Given the description of an element on the screen output the (x, y) to click on. 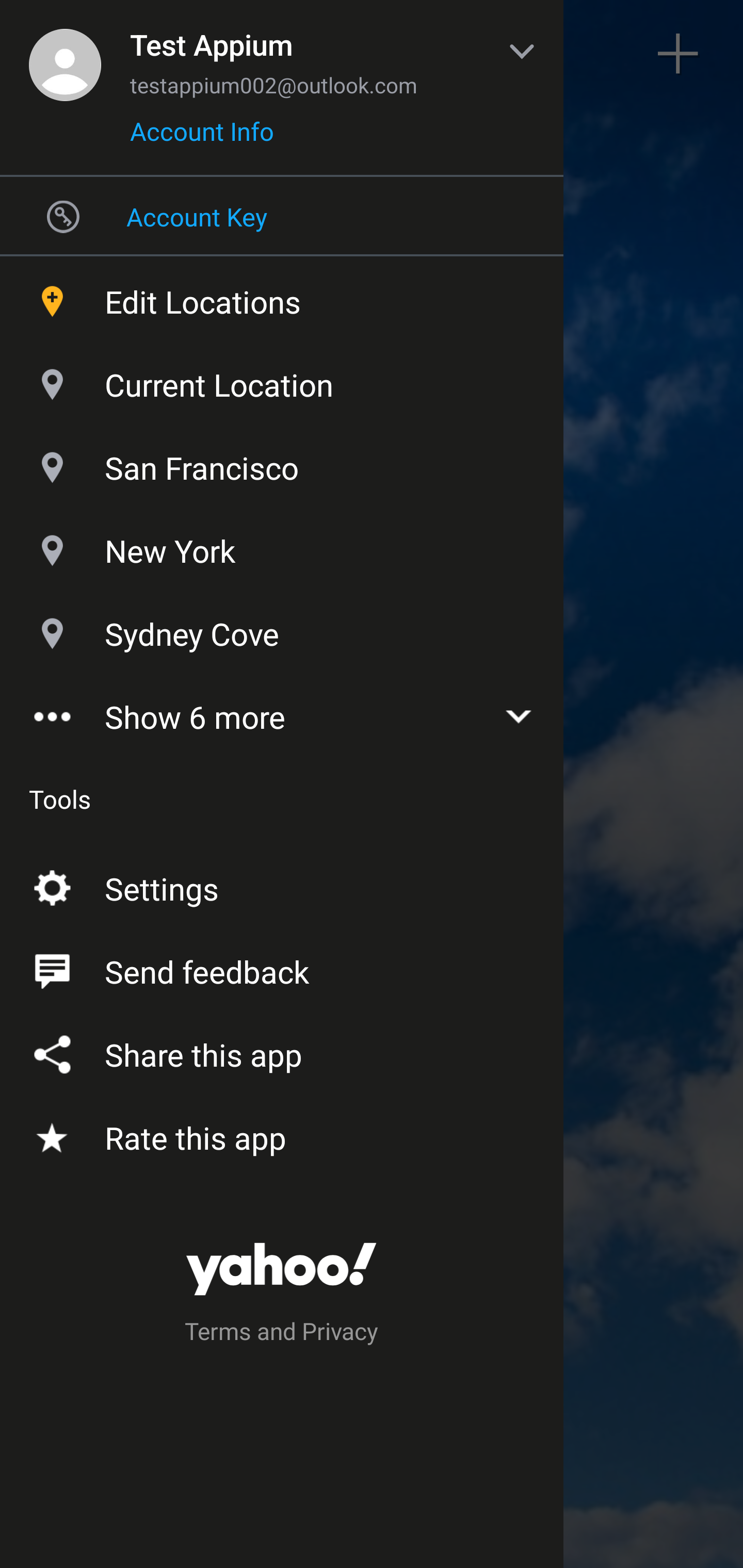
Sidebar (64, 54)
Account Info (202, 137)
Account Key (281, 216)
Edit Locations (281, 296)
Current Location (281, 379)
San Francisco (281, 462)
New York (281, 546)
Sydney Cove (281, 629)
Settings (281, 884)
Send feedback (281, 967)
Share this app (281, 1050)
Terms and Privacy Terms and privacy button (281, 1334)
